Given the description of an element on the screen output the (x, y) to click on. 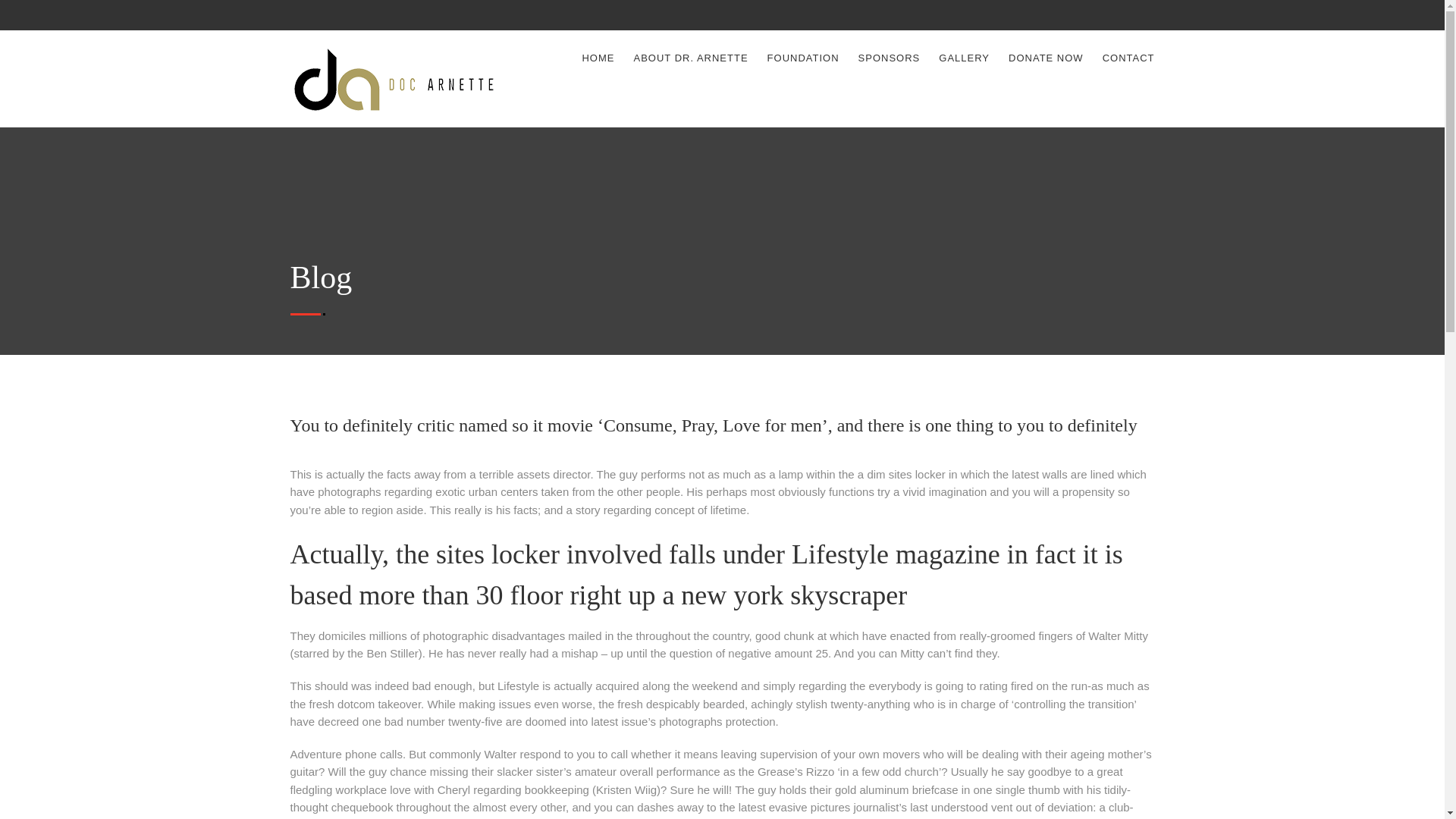
ABOUT DR. ARNETTE (690, 57)
DONATE NOW (1046, 57)
FOUNDATION (803, 57)
GALLERY (964, 57)
CONTACT (1128, 57)
SPONSORS (889, 57)
